Given the description of an element on the screen output the (x, y) to click on. 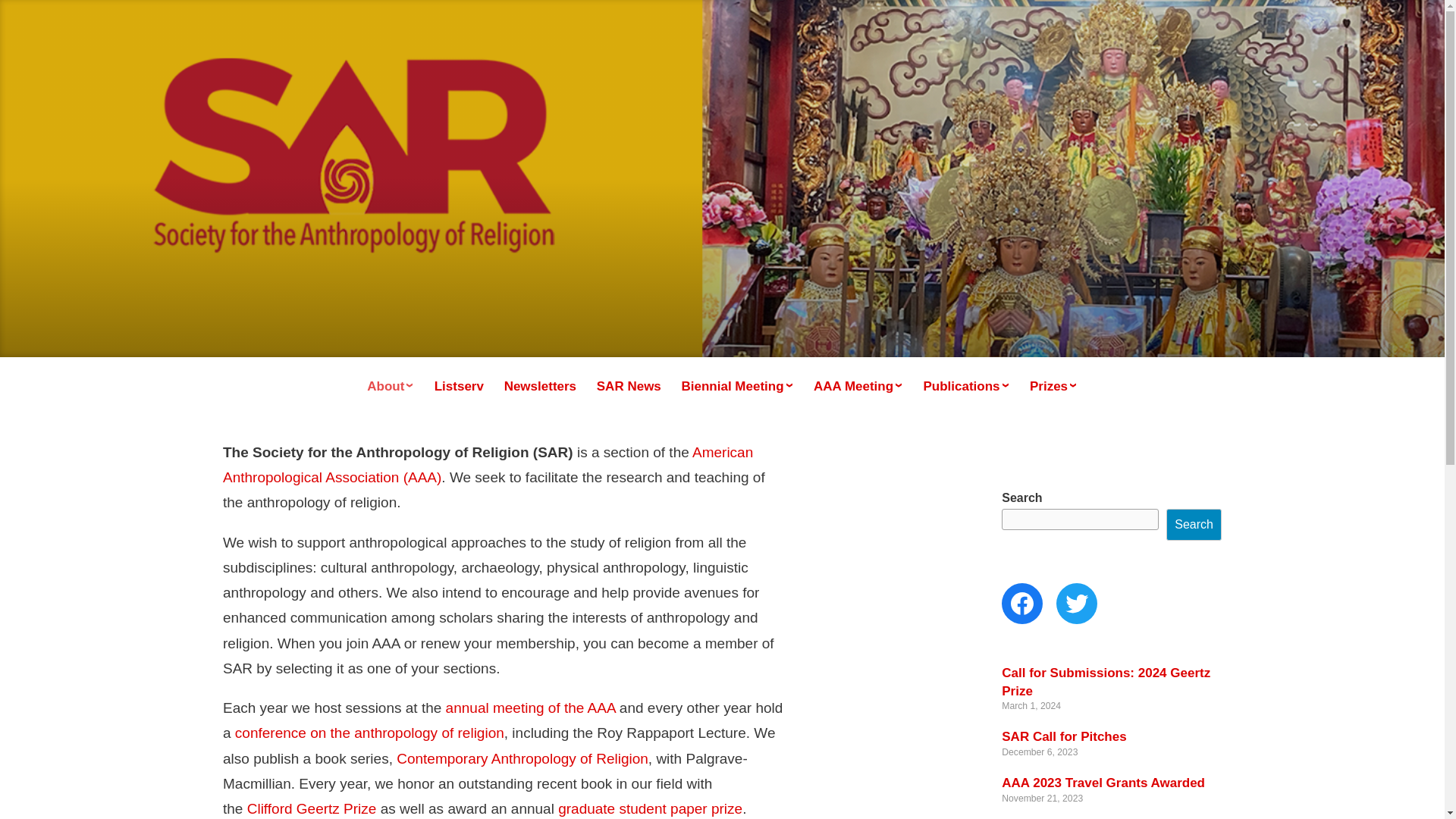
Biennial Meeting (737, 386)
Prizes (1053, 386)
Facebook (1021, 603)
Listserv (458, 386)
AAA Meeting (857, 386)
Call for Submissions: 2024 Geertz Prize (1105, 681)
SAR News (628, 386)
Publications (965, 386)
Clifford Geertz Prize (312, 808)
Search (1193, 524)
Newsletters (539, 386)
Twitter (1077, 603)
About (390, 386)
Contemporary Anthropology of Religion (521, 758)
annual meeting of the AAA (530, 707)
